Given the description of an element on the screen output the (x, y) to click on. 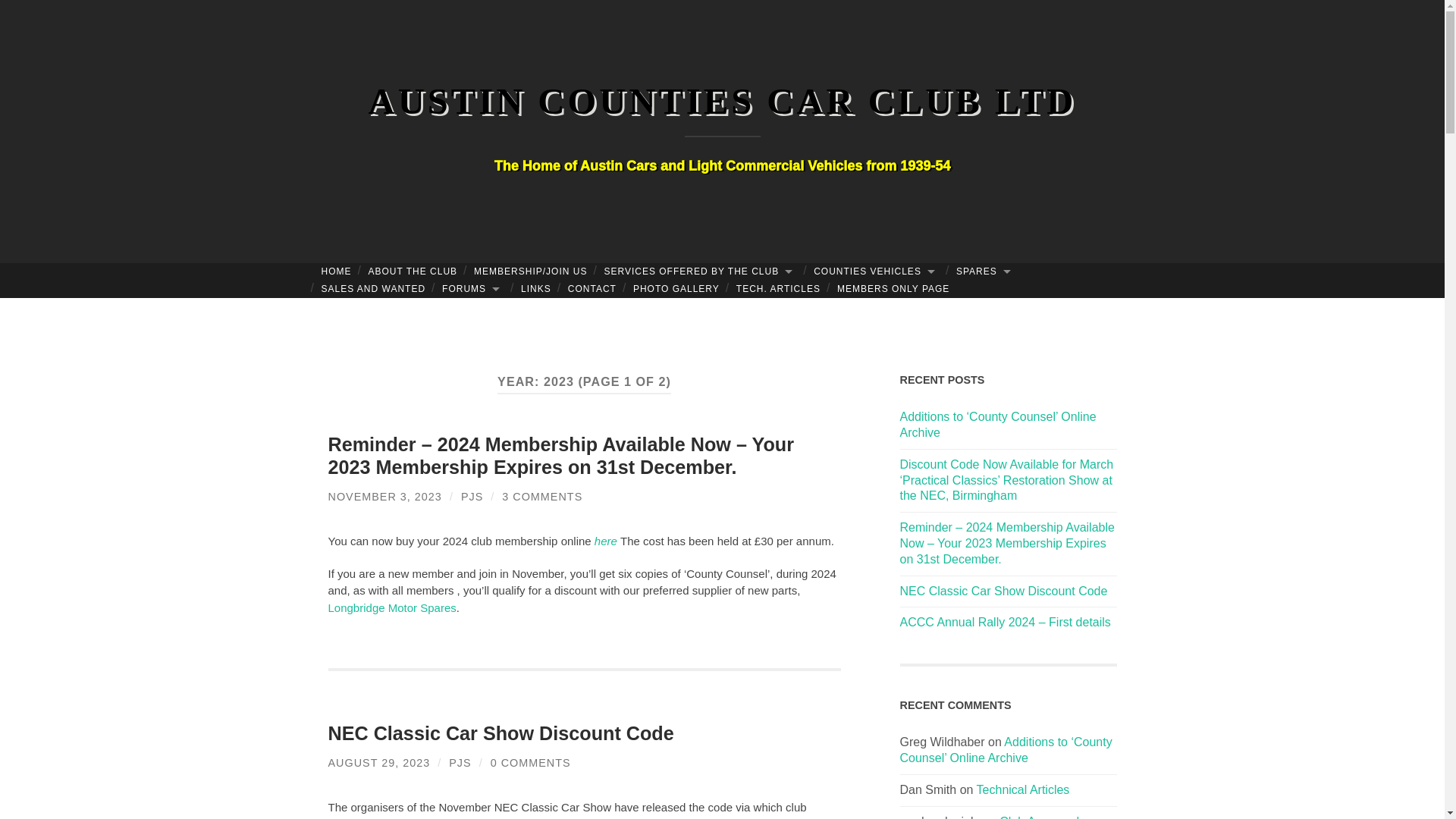
HOME (336, 271)
CONTACT (591, 289)
Posts by PJS (472, 496)
COUNTIES VEHICLES (876, 271)
ABOUT THE CLUB (412, 271)
SPARES (985, 271)
SALES AND WANTED (373, 289)
Posts by PJS (459, 762)
FORUMS (472, 289)
SERVICES OFFERED BY THE CLUB (700, 271)
